Given the description of an element on the screen output the (x, y) to click on. 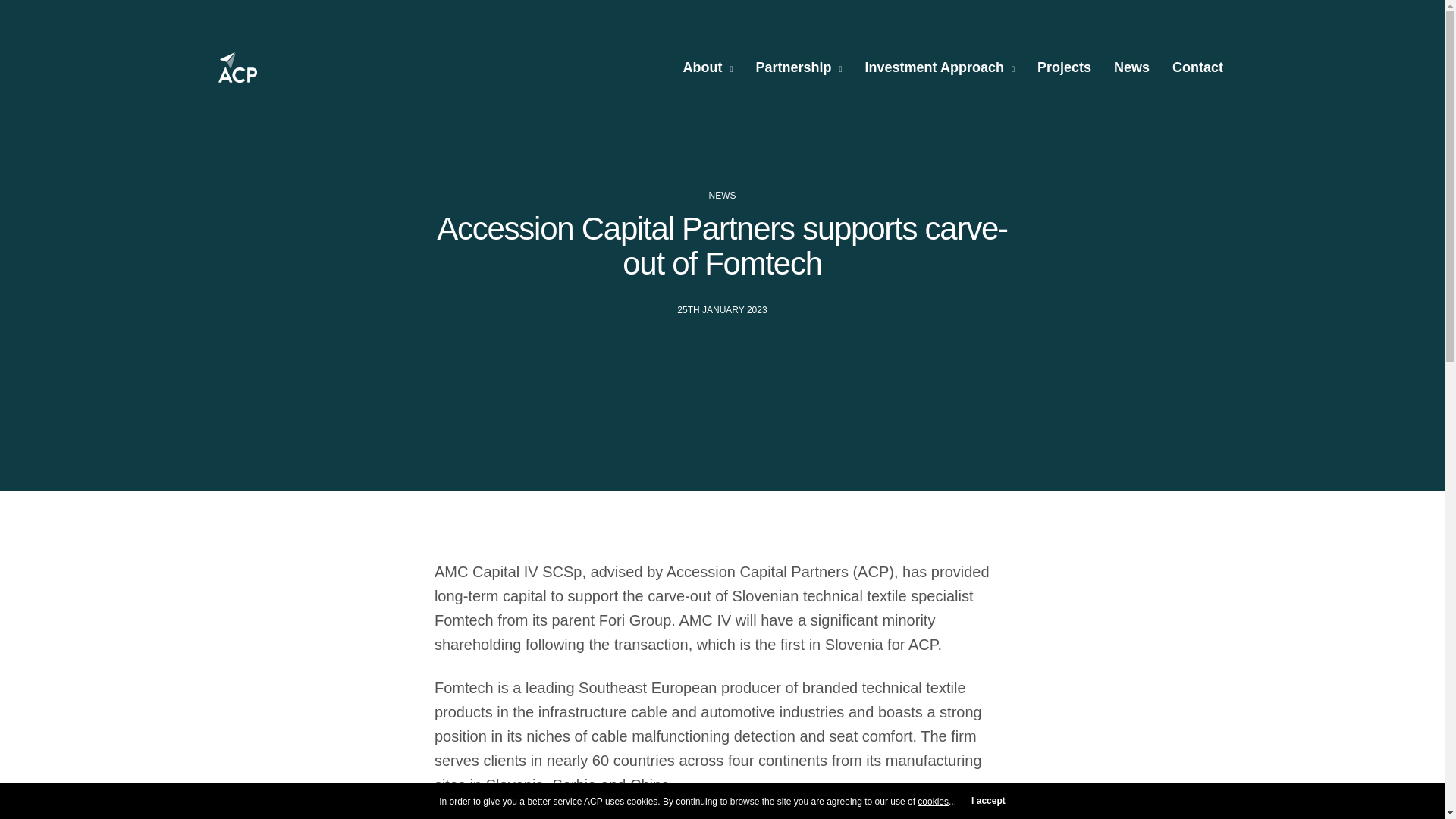
ACP (237, 67)
CONTACT US (1049, 654)
Partnership (245, 609)
Terms (232, 732)
ACP Credit (244, 757)
Contact (1197, 67)
News (1131, 67)
Our Funds (242, 585)
News (231, 683)
About (707, 67)
NEWS (721, 194)
Projects (237, 658)
Privacy Policy (250, 707)
Contact (236, 560)
About ACP (244, 535)
